Given the description of an element on the screen output the (x, y) to click on. 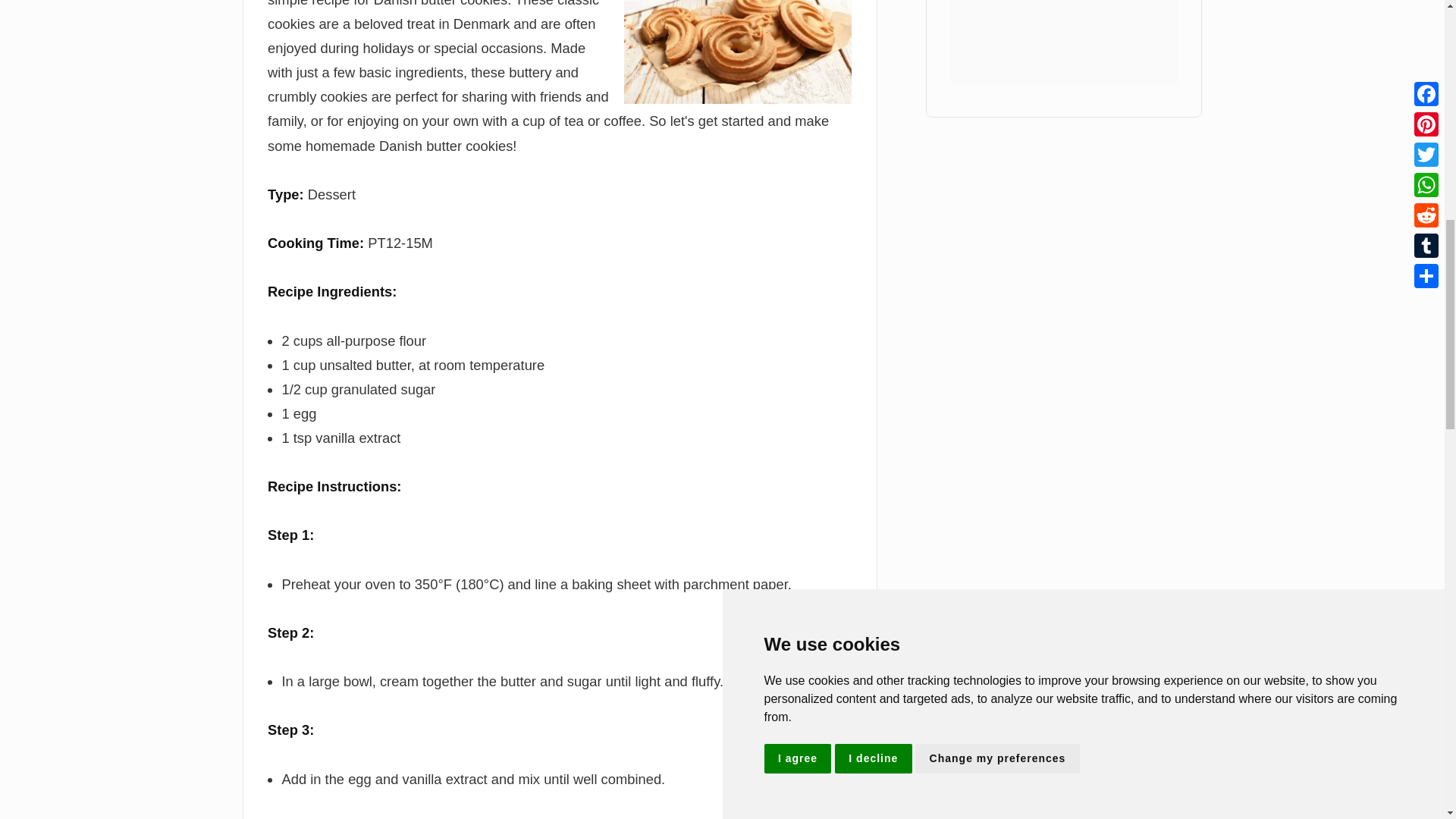
Advertisement (1063, 42)
